Given the description of an element on the screen output the (x, y) to click on. 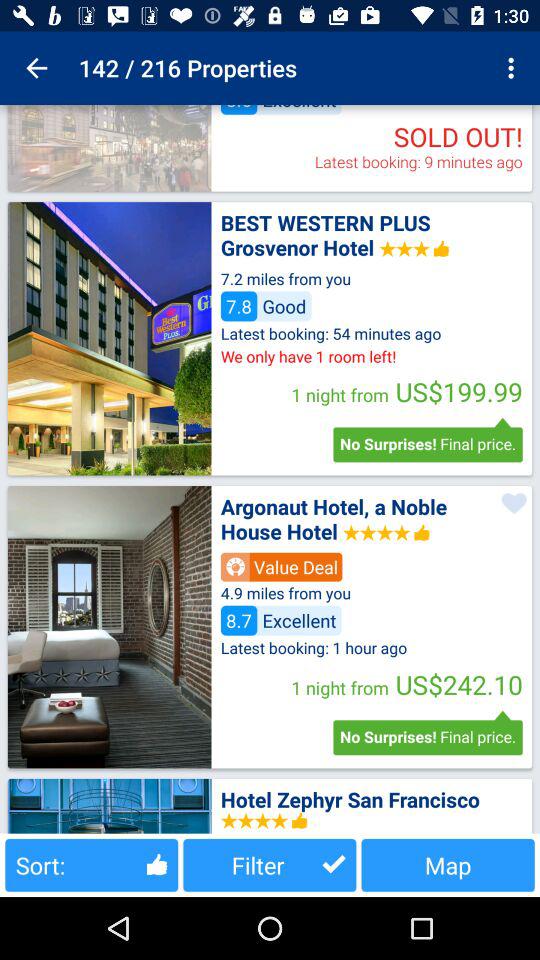
view hotel image (109, 627)
